Given the description of an element on the screen output the (x, y) to click on. 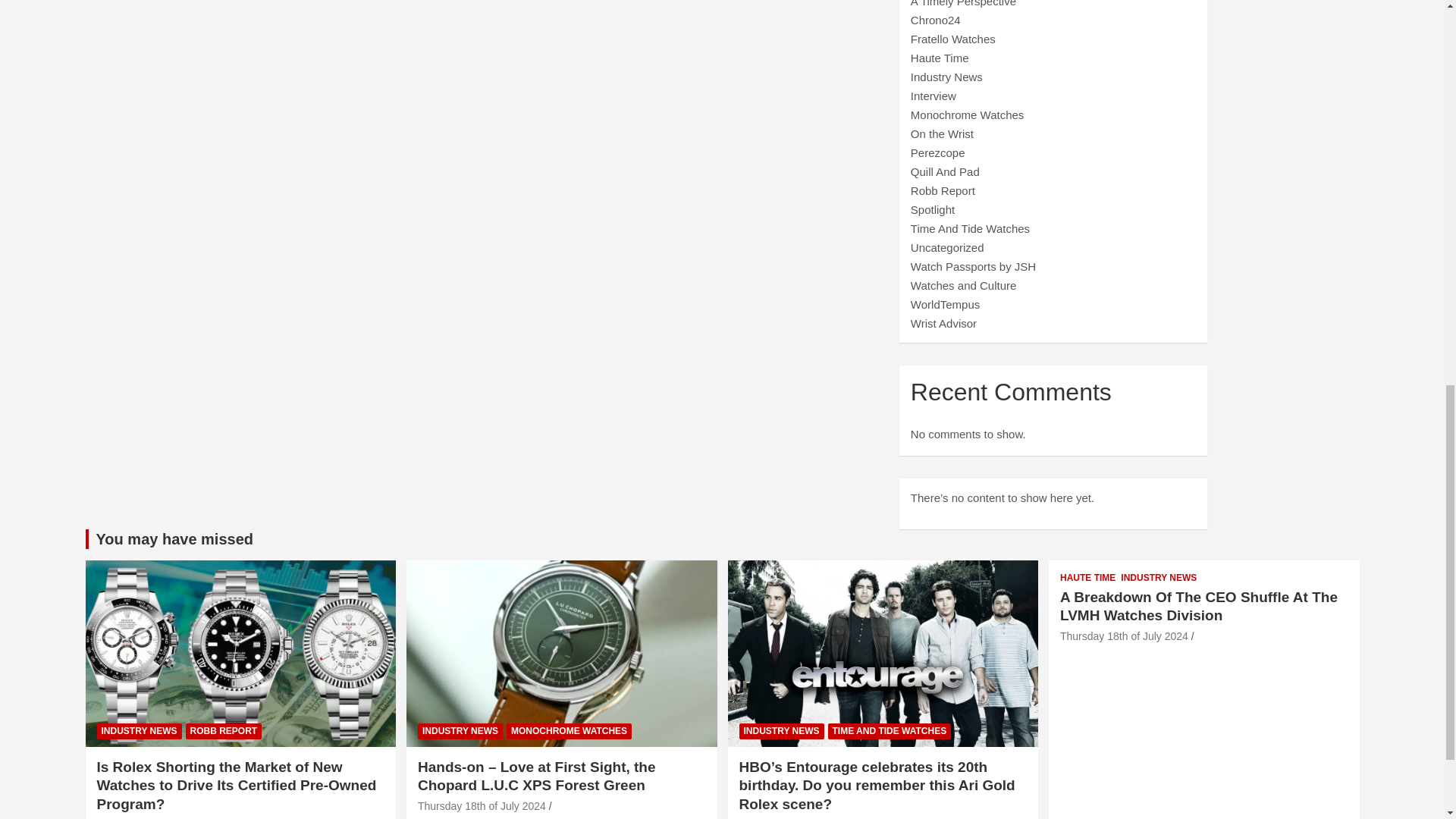
On the Wrist (942, 133)
Fratello Watches (953, 38)
Industry News (946, 76)
Monochrome Watches (968, 114)
Haute Time (940, 57)
A Timely Perspective (963, 3)
A Breakdown Of The CEO Shuffle At The LVMH Watches Division (1123, 635)
Perezcope (938, 152)
Chrono24 (935, 19)
Interview (933, 95)
